Given the description of an element on the screen output the (x, y) to click on. 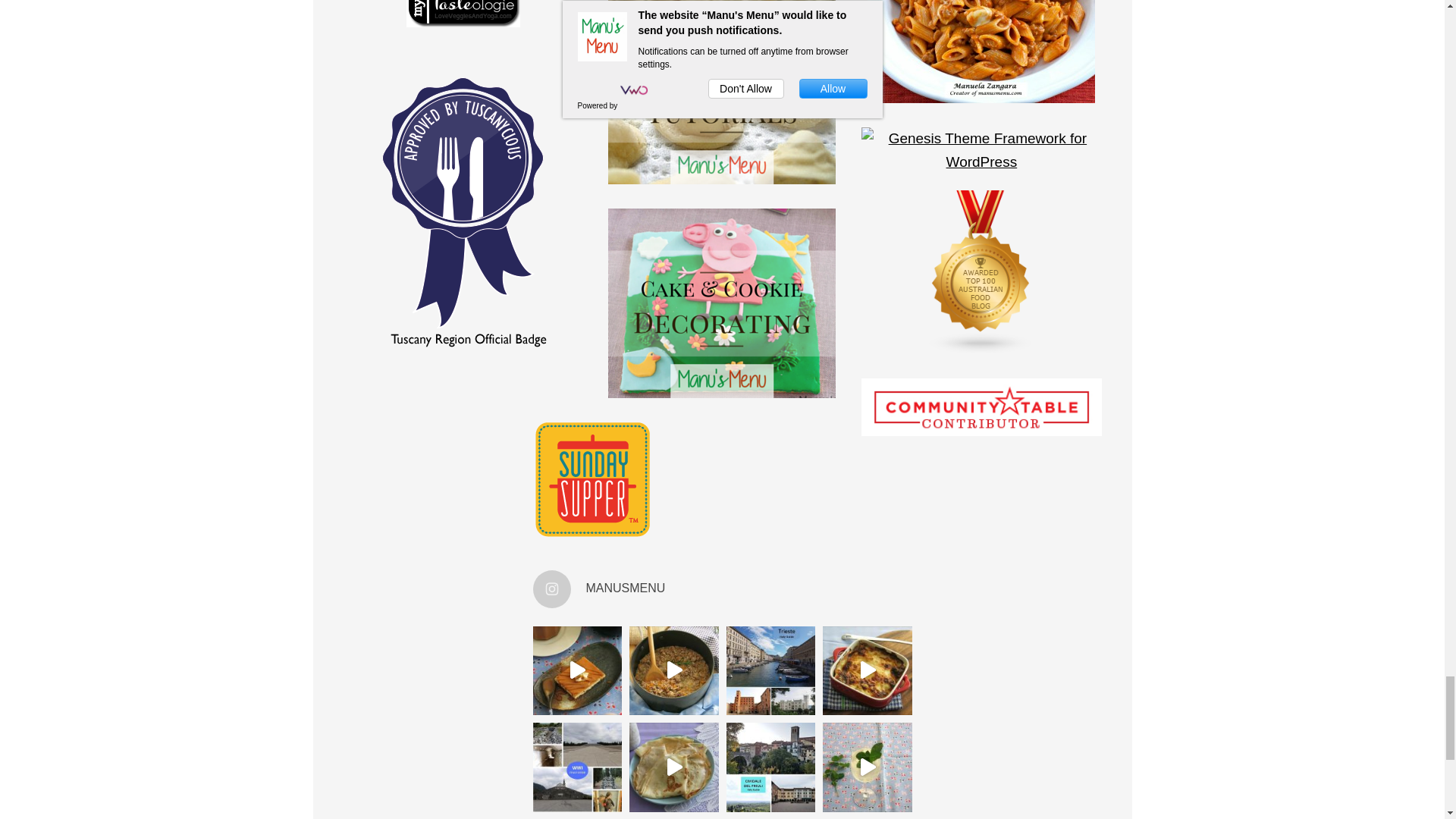
Australian Food Blogs (980, 349)
